Given the description of an element on the screen output the (x, y) to click on. 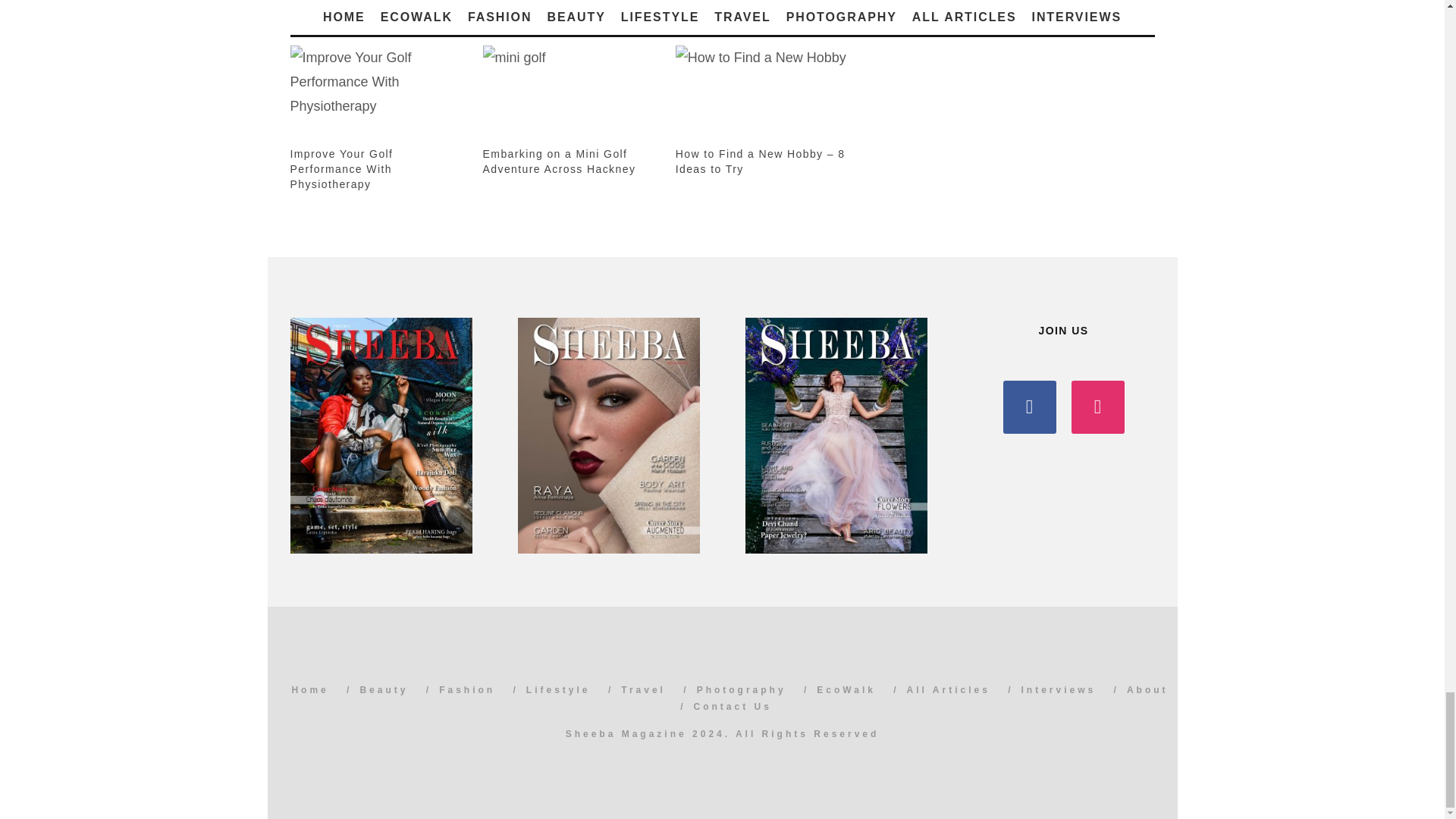
Improve Your Golf Performance With Physiotherapy (341, 169)
Improve Your Golf Performance With Physiotherapy (378, 96)
Embarking on a Mini Golf Adventure Across Hackney (572, 96)
Embarking on a Mini Golf Adventure Across Hackney (559, 161)
